Given the description of an element on the screen output the (x, y) to click on. 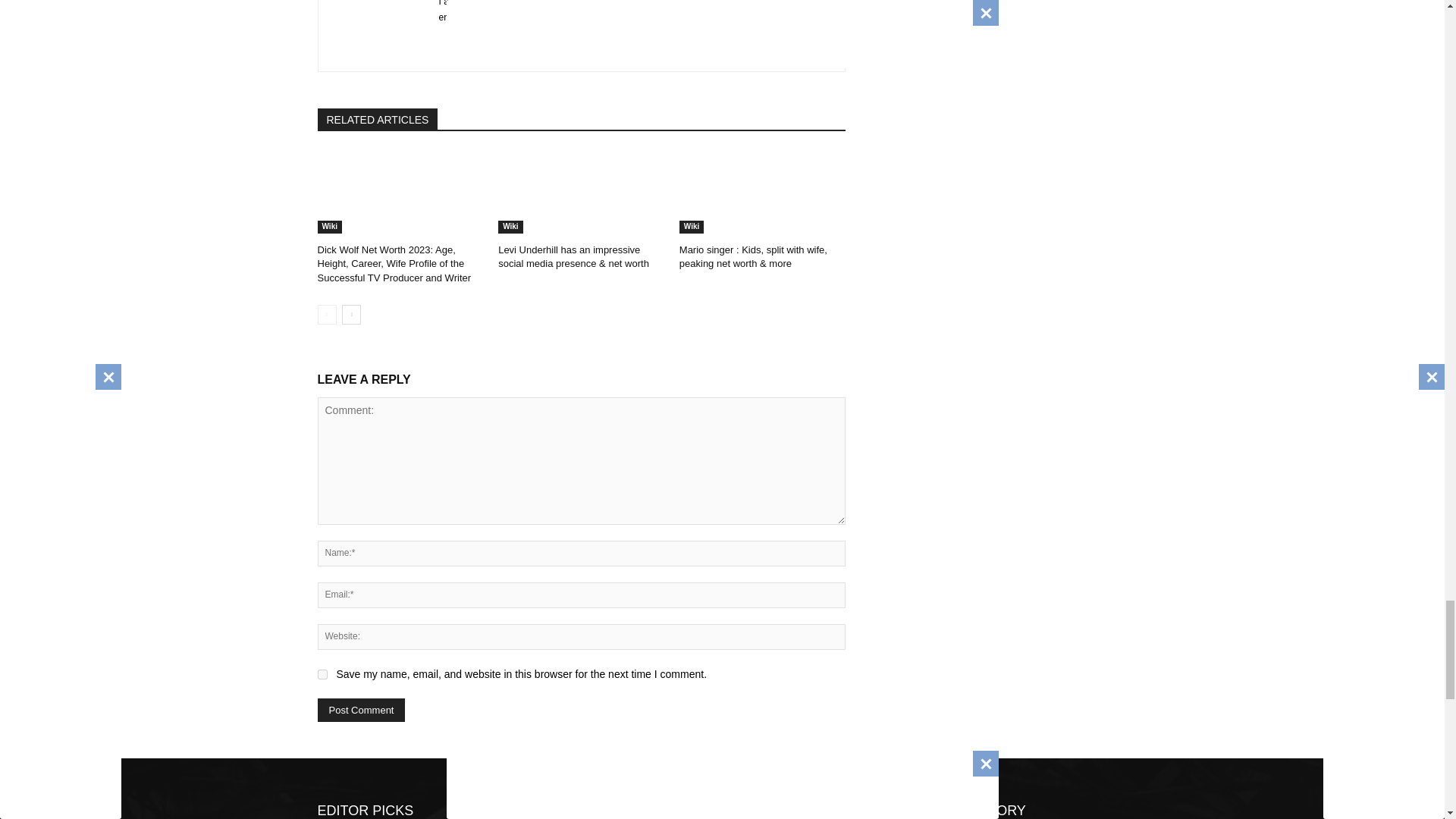
Post Comment (360, 709)
yes (321, 674)
